Given the description of an element on the screen output the (x, y) to click on. 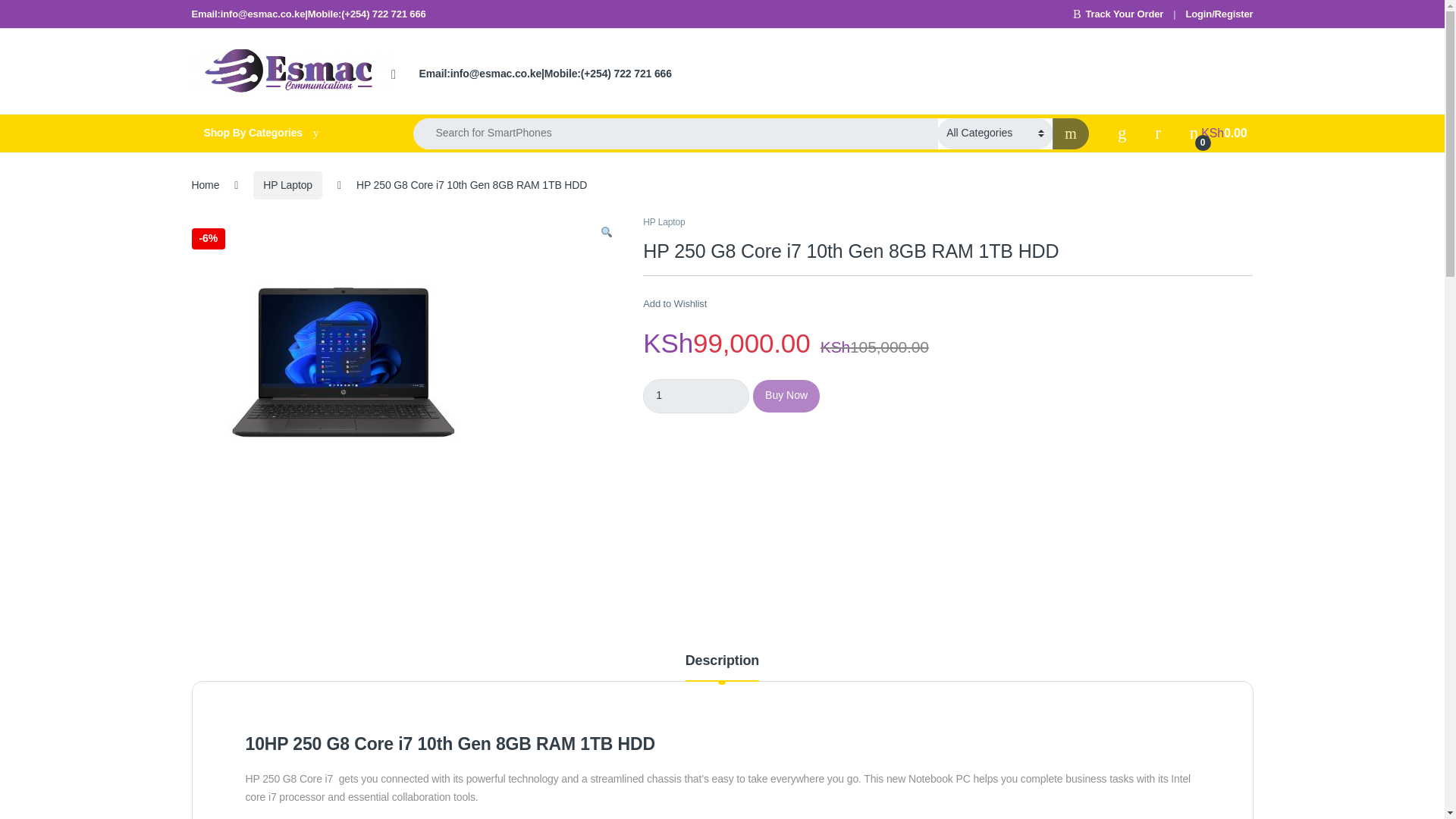
Track Your Order (1118, 13)
Shop By Categories (287, 133)
Track Your Order (1118, 13)
1 (696, 396)
